Given the description of an element on the screen output the (x, y) to click on. 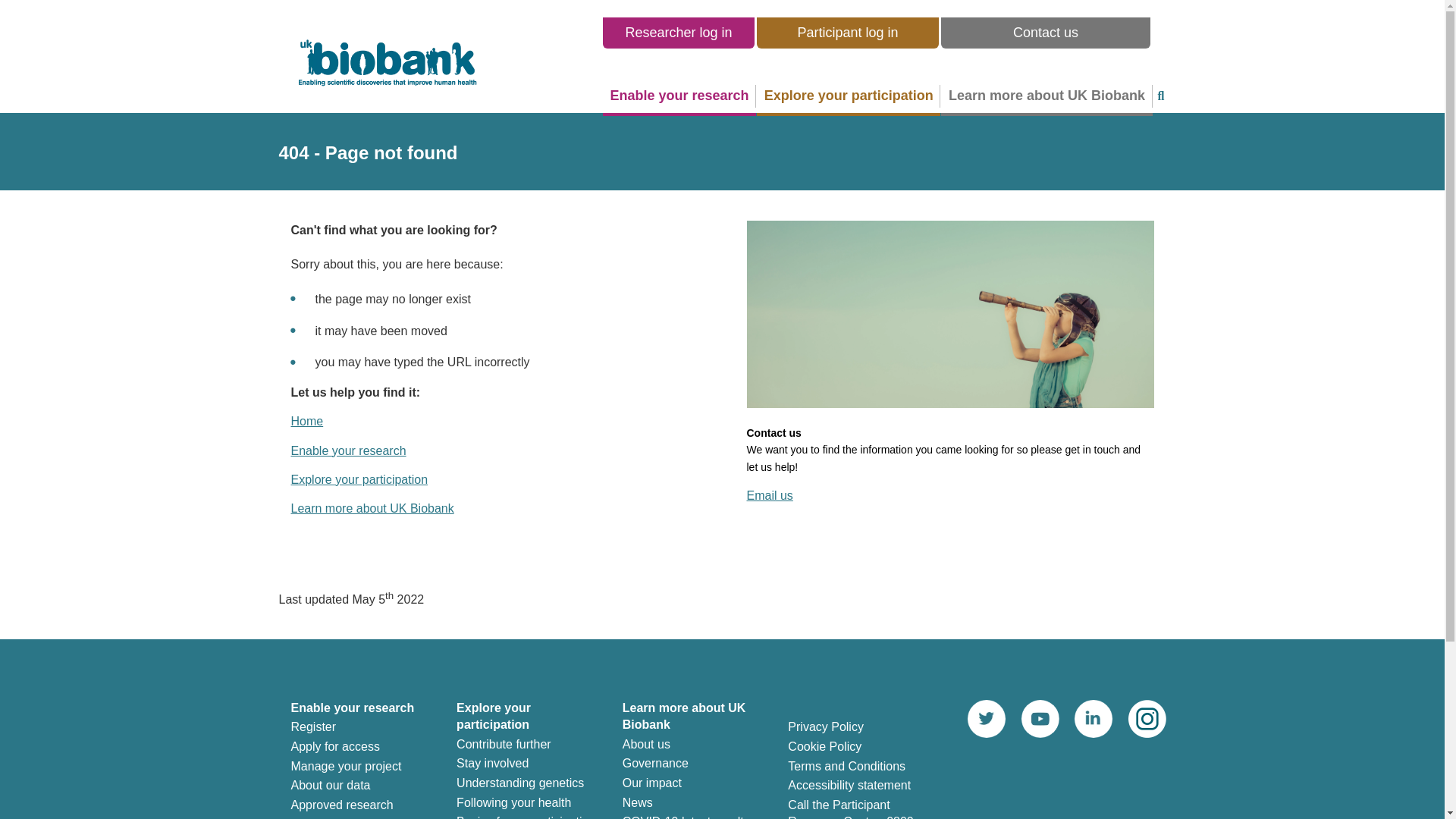
Participant log in (848, 32)
Explore your participation (359, 479)
Learn more about UK Biobank (1045, 96)
Home (307, 420)
Search (1161, 96)
Enable your research (348, 450)
Contact us (1045, 32)
Learn more about UK Biobank (372, 508)
Researcher log in (678, 32)
UK Biobank (307, 420)
Explore your participation (848, 96)
Enable your research (678, 96)
